Given the description of an element on the screen output the (x, y) to click on. 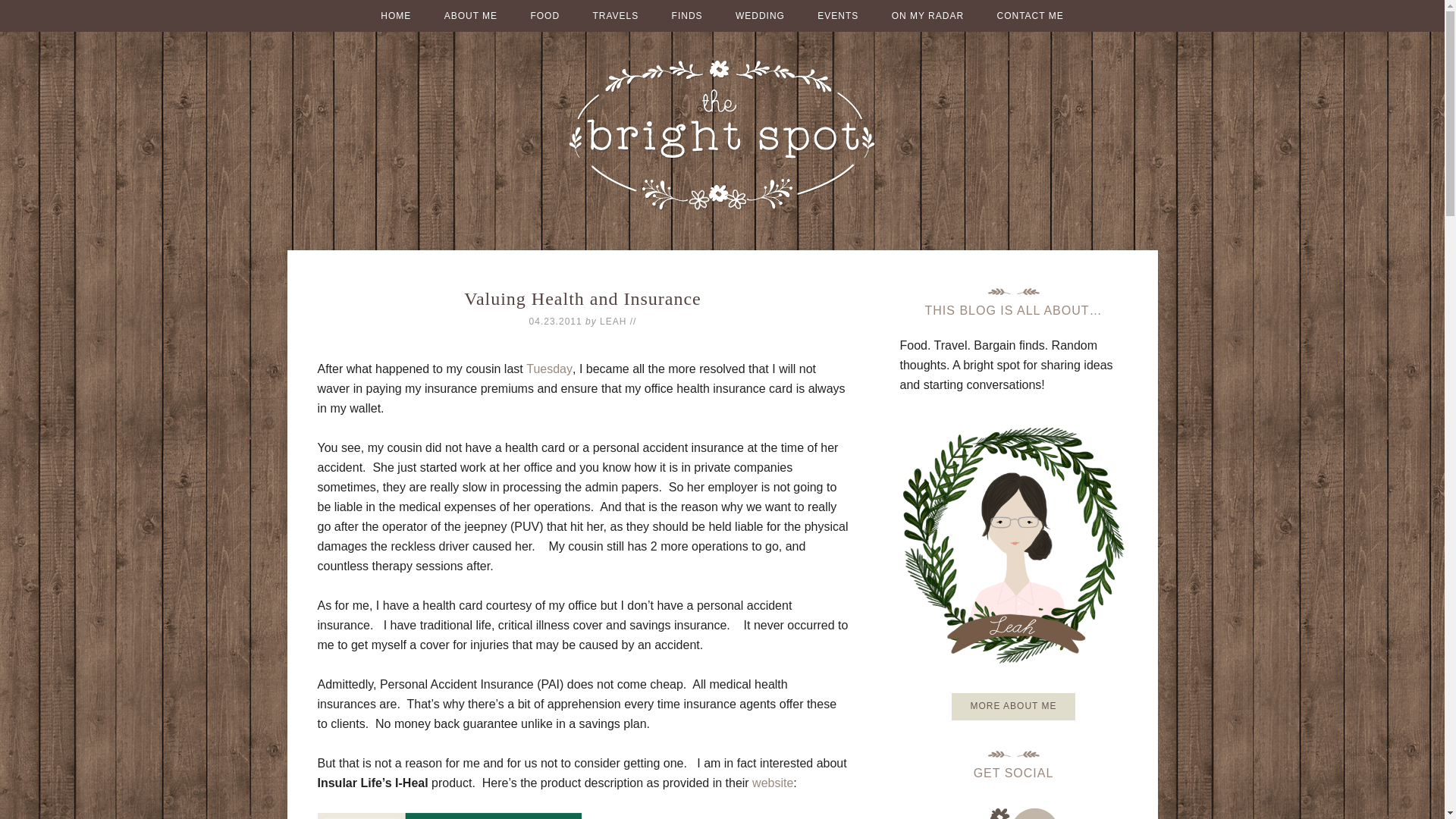
CONTACT ME (1029, 15)
TRAVELS (614, 15)
LEAH (612, 321)
MORE ABOUT ME (1013, 706)
website (772, 782)
FINDS (686, 15)
ON MY RADAR (927, 15)
ABOUT ME (470, 15)
EVENTS (837, 15)
Tuesday (548, 368)
FOOD (545, 15)
HOME (395, 15)
WEDDING (759, 15)
